Given the description of an element on the screen output the (x, y) to click on. 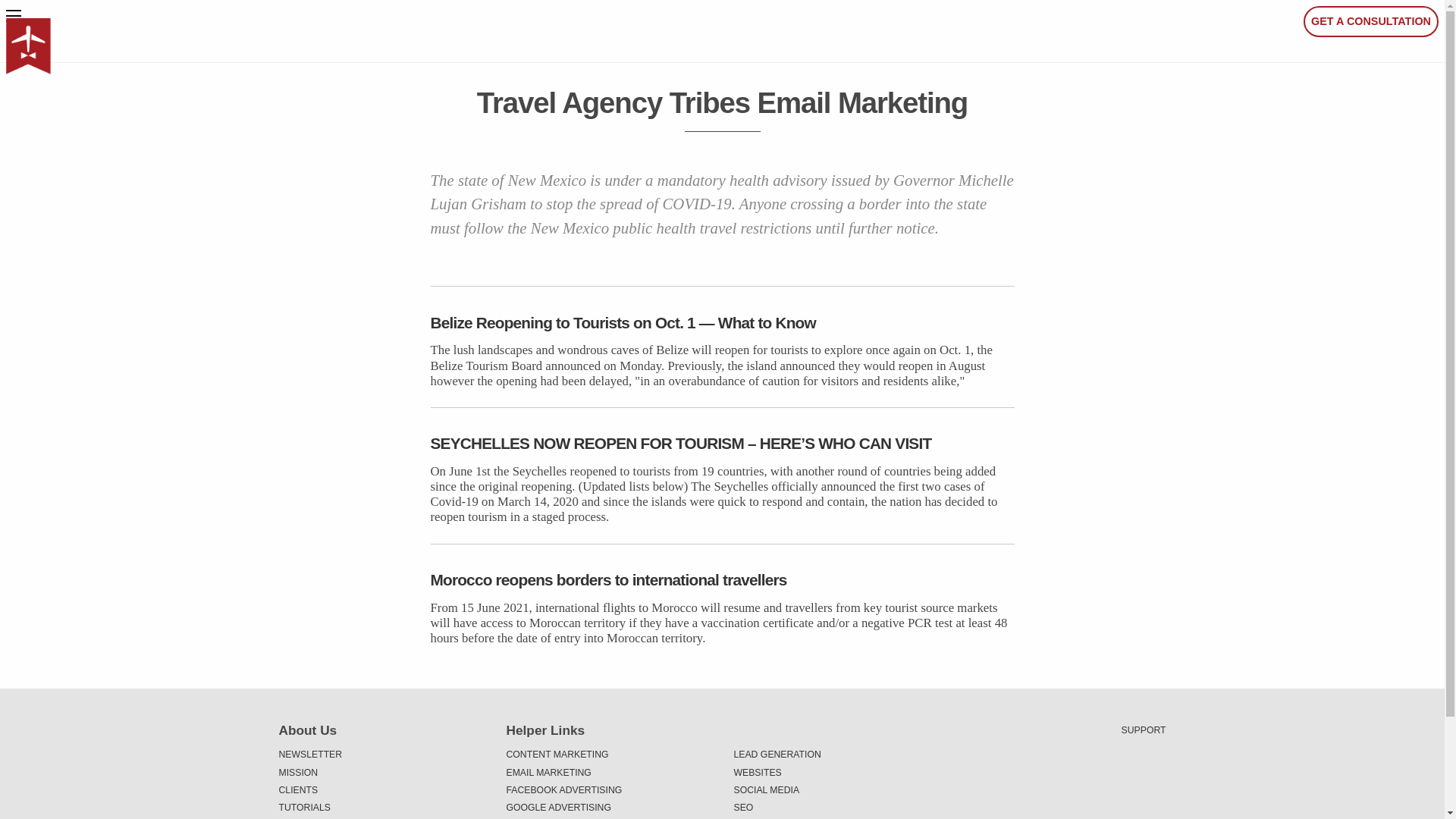
TAT MEDIA CENTRE (381, 817)
CLIENTS (381, 789)
LEAD GENERATION (836, 754)
MISSION (381, 772)
TUTORIALS (381, 807)
Morocco reopens borders to international travellers (722, 579)
EMAIL MARKETING (608, 772)
WEBSITES (836, 772)
SUPPORT (1143, 729)
CONTENT MARKETING (608, 754)
SEO (836, 807)
NEWSLETTER (381, 754)
SOCIAL MEDIA (836, 789)
GOOGLE ADVERTISING (608, 807)
GET A CONSULTATION (1370, 20)
